Given the description of an element on the screen output the (x, y) to click on. 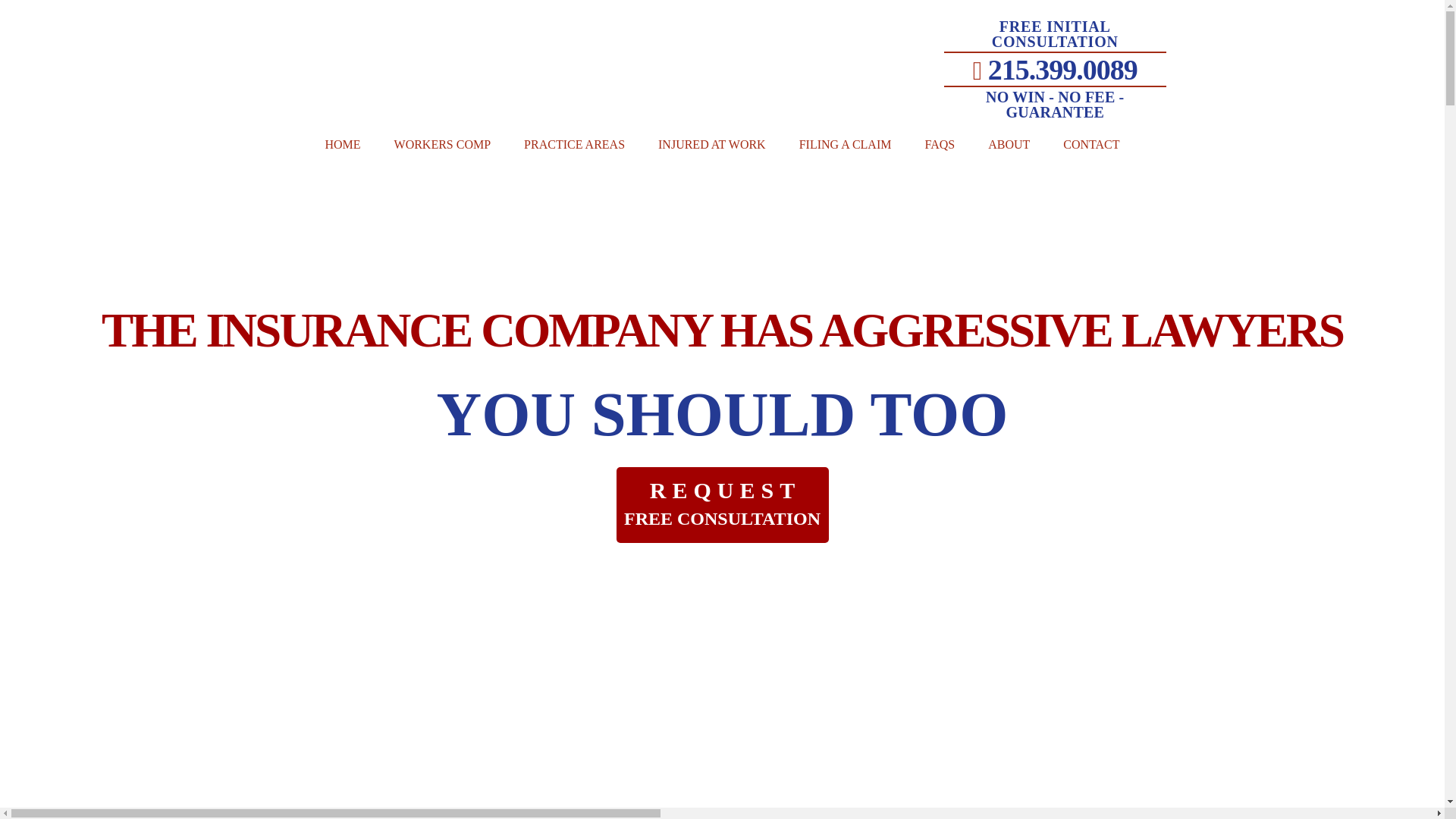
HOME (341, 144)
Liberty Bell Workers Compensation - Philadelphia (423, 82)
PRACTICE AREAS (574, 144)
Liberty Bell Workers Compensation in Philadelphia Logo (423, 54)
Call Liberty Bell Workers Compensation in Philadelphia (1054, 69)
WORKERS COMP (442, 144)
215.399.0089 (1054, 69)
